Given the description of an element on the screen output the (x, y) to click on. 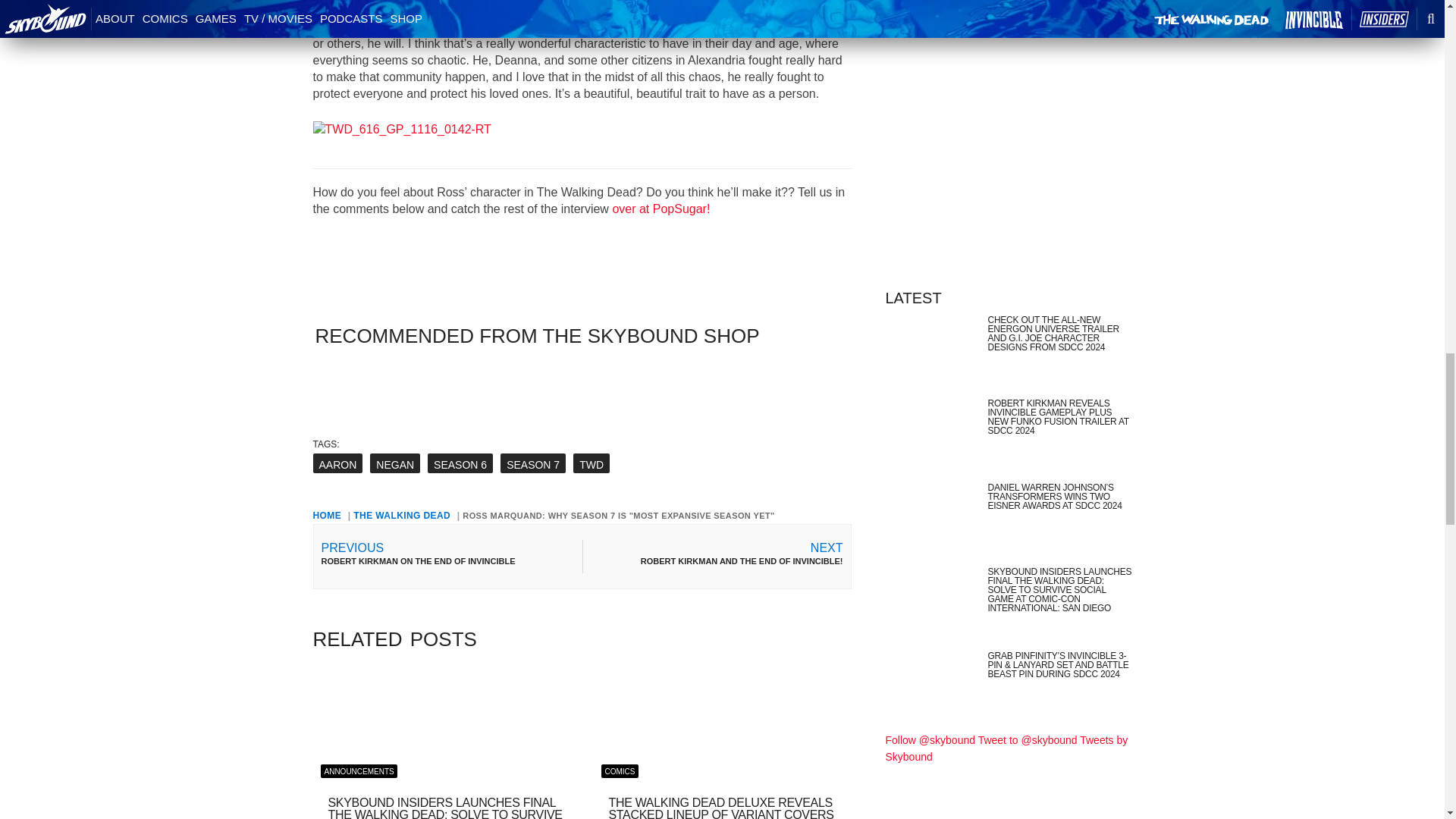
over at PopSugar! (660, 208)
